Given the description of an element on the screen output the (x, y) to click on. 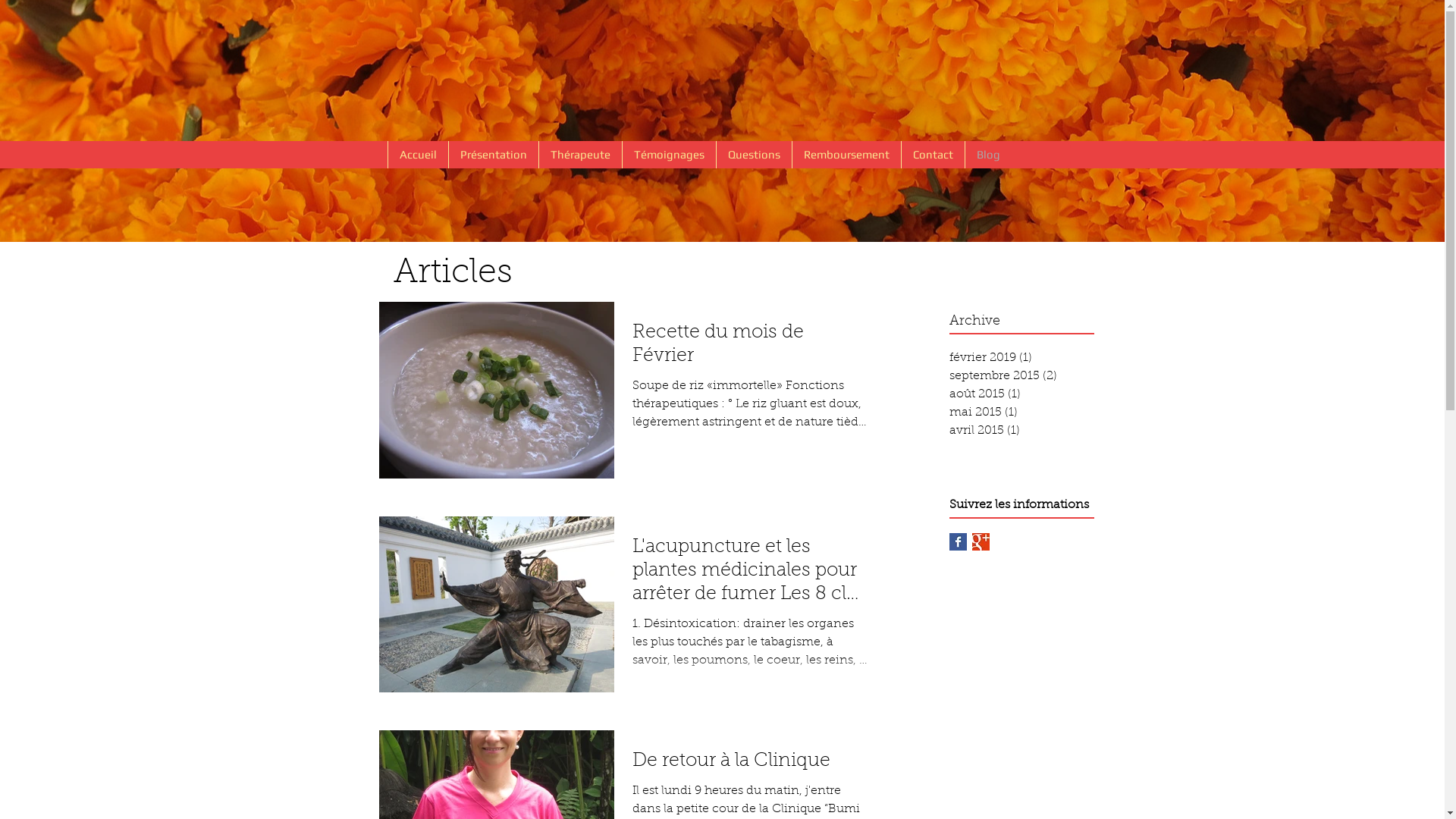
mai 2015 (1) Element type: text (1028, 412)
Remboursement Element type: text (845, 154)
Blog Element type: text (987, 154)
Accueil Element type: text (417, 154)
avril 2015 (1) Element type: text (1028, 430)
Contact Element type: text (932, 154)
septembre 2015 (2) Element type: text (1028, 376)
Questions Element type: text (753, 154)
